Given the description of an element on the screen output the (x, y) to click on. 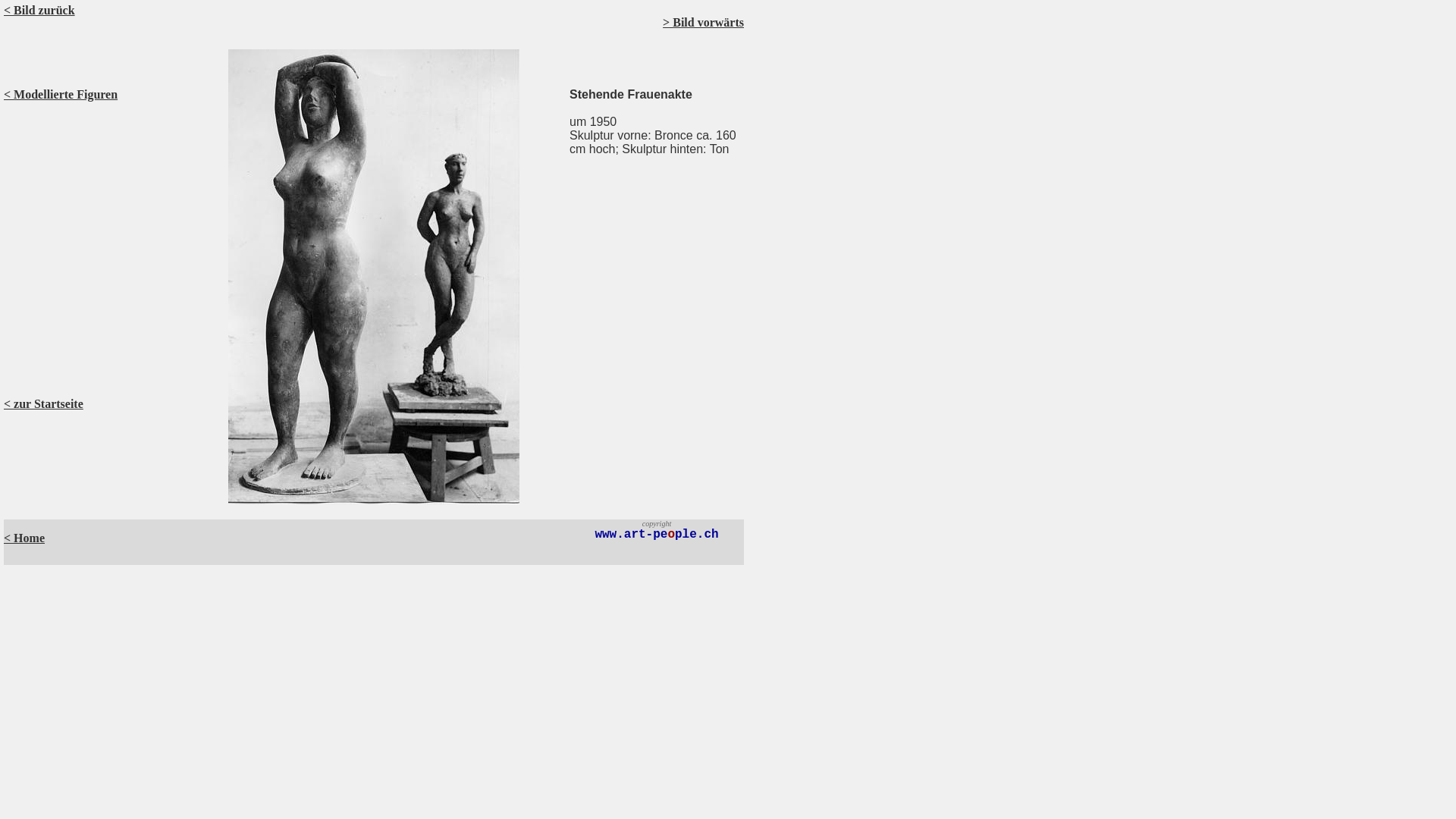
< zur Startseite Element type: text (43, 403)
< Home Element type: text (23, 537)
< Modellierte Figuren Element type: text (60, 93)
